Given the description of an element on the screen output the (x, y) to click on. 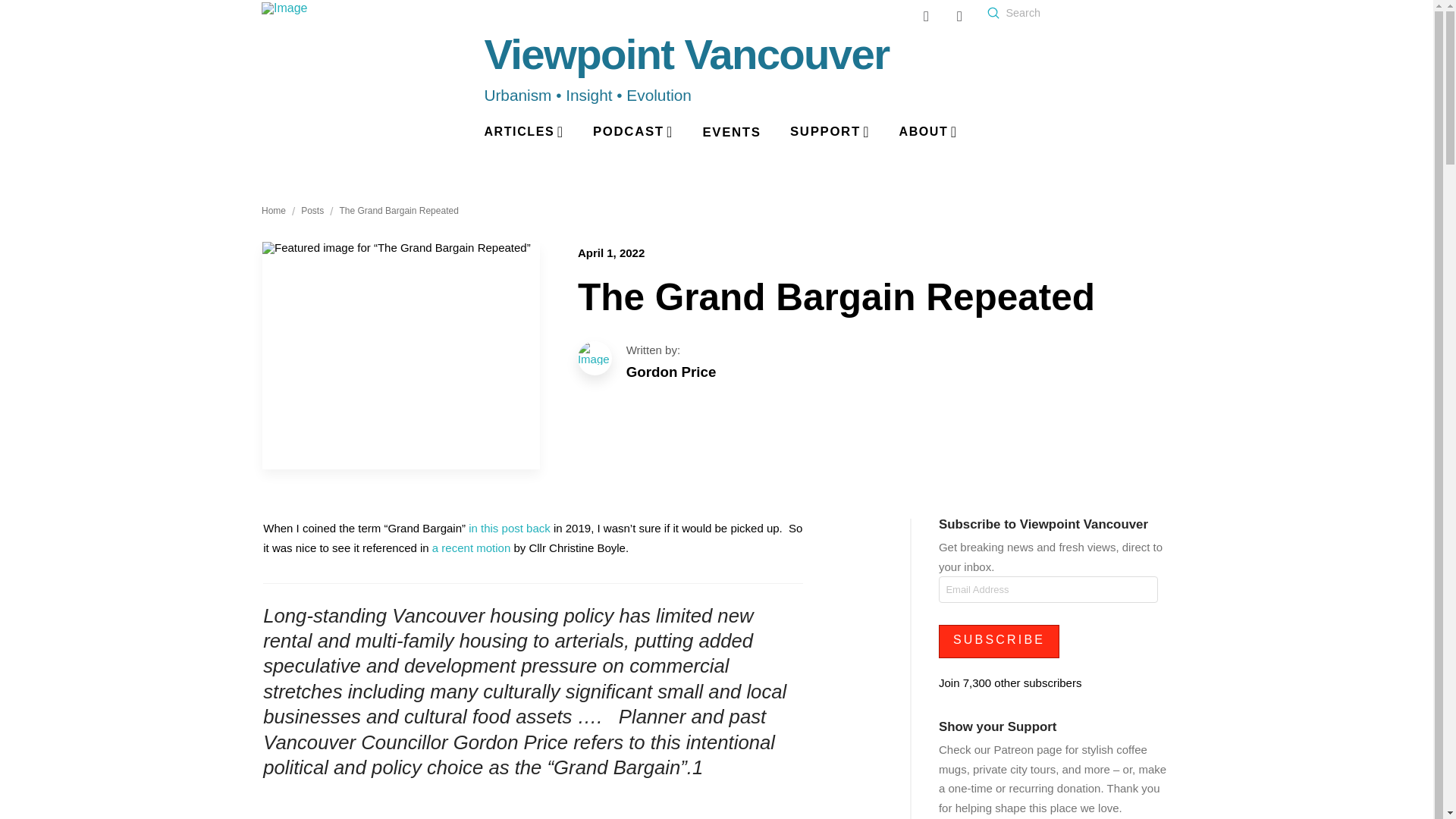
Posts (312, 211)
a recent motion (471, 547)
The Grand Bargain Repeated (398, 211)
Home (273, 211)
SUBSCRIBE (999, 641)
Submit (992, 12)
EVENTS (730, 134)
in this post back (509, 527)
You Are Here (874, 350)
